Given the description of an element on the screen output the (x, y) to click on. 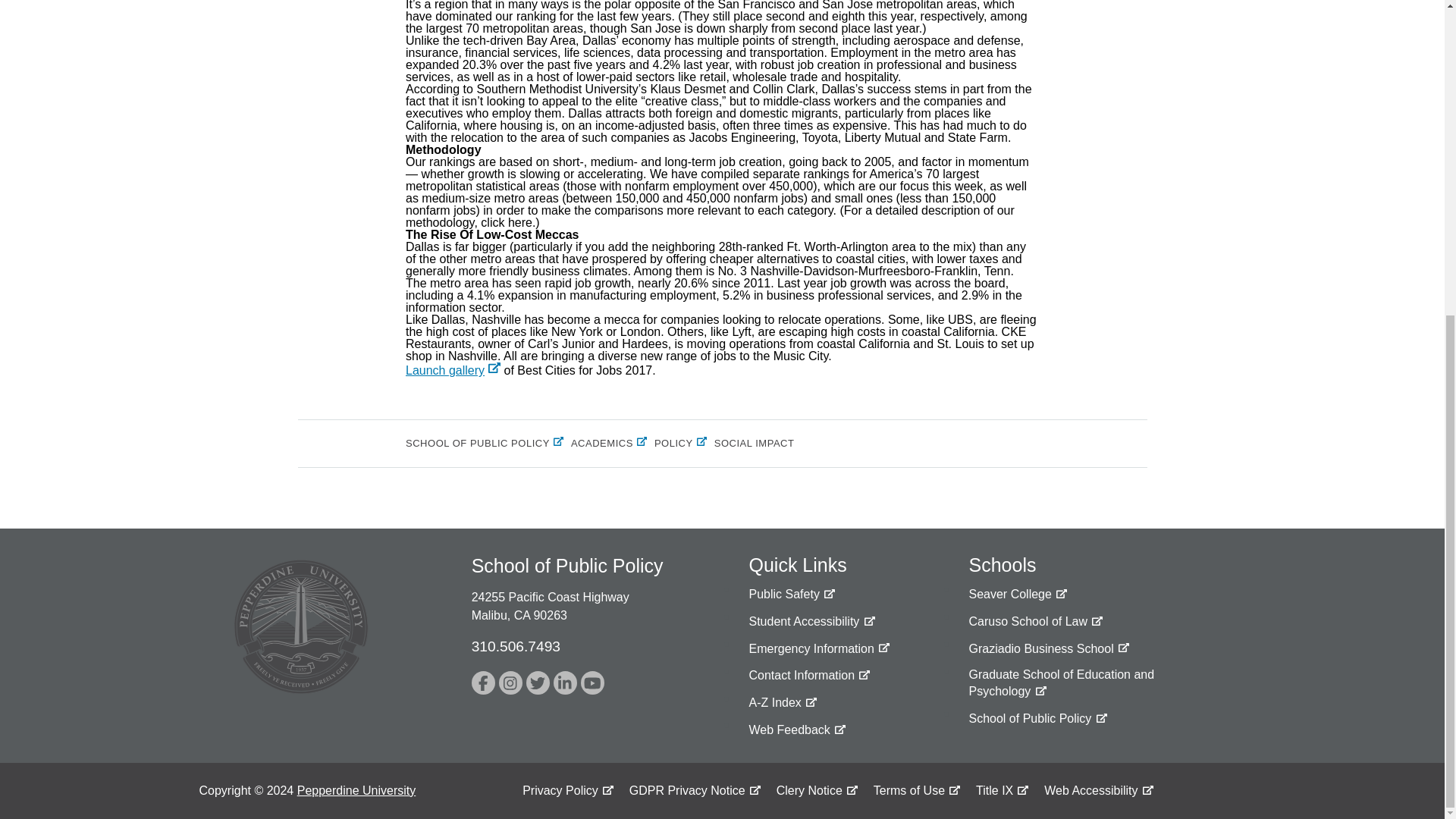
Link to External Site (1035, 621)
Link to External Site (790, 594)
Link to External Site (453, 369)
Link to External Site (796, 729)
Link to External Site (510, 682)
Link to External Site (564, 682)
Link to External Site (483, 682)
Link to External Site (811, 621)
Link to External Site (1048, 648)
Go to School of Public Policy site (1037, 718)
